Given the description of an element on the screen output the (x, y) to click on. 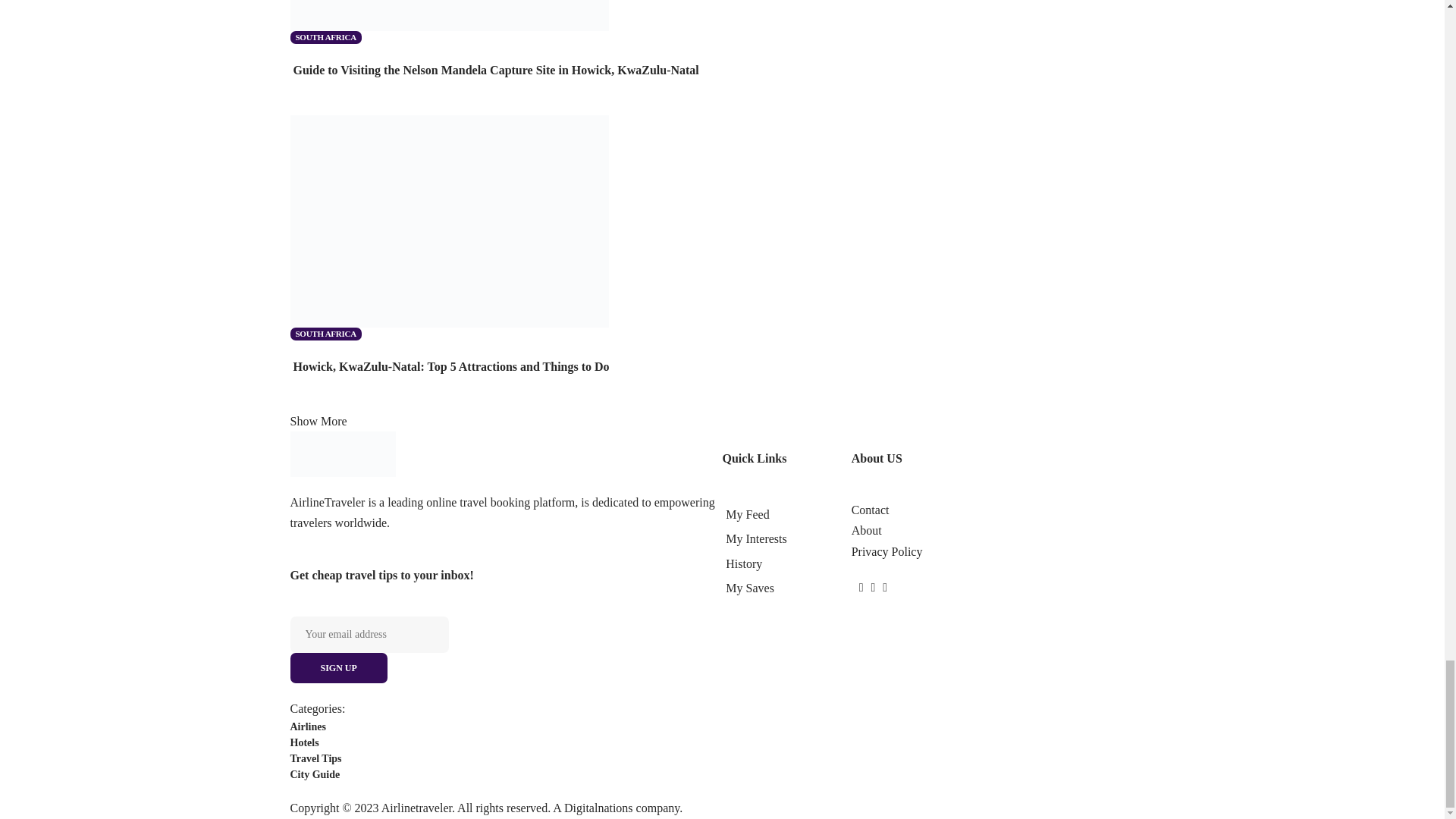
Sign up (505, 740)
